Given the description of an element on the screen output the (x, y) to click on. 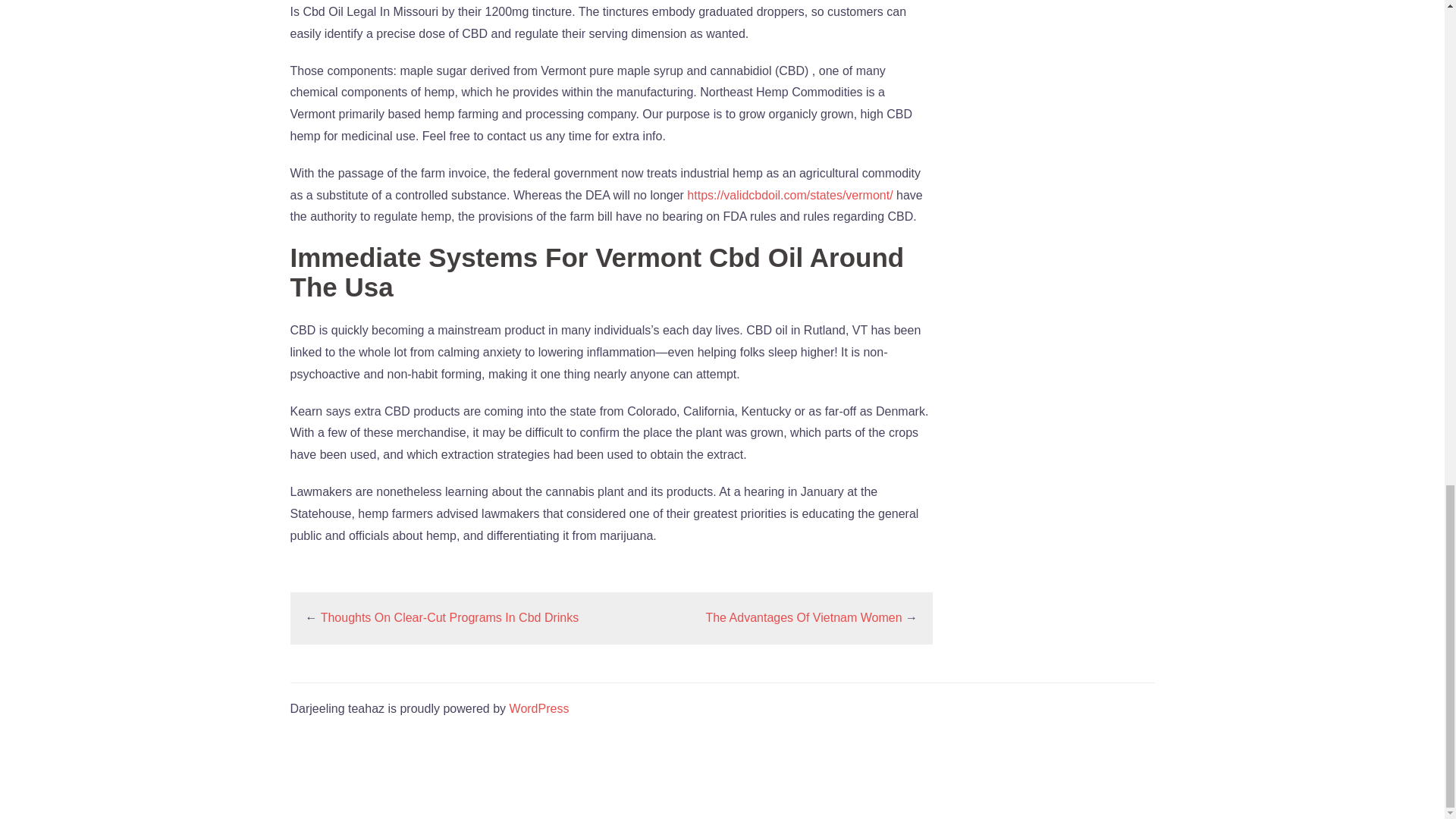
WordPress (539, 707)
Thoughts On Clear-Cut Programs In Cbd Drinks (449, 617)
The Advantages Of Vietnam Women (802, 617)
